Given the description of an element on the screen output the (x, y) to click on. 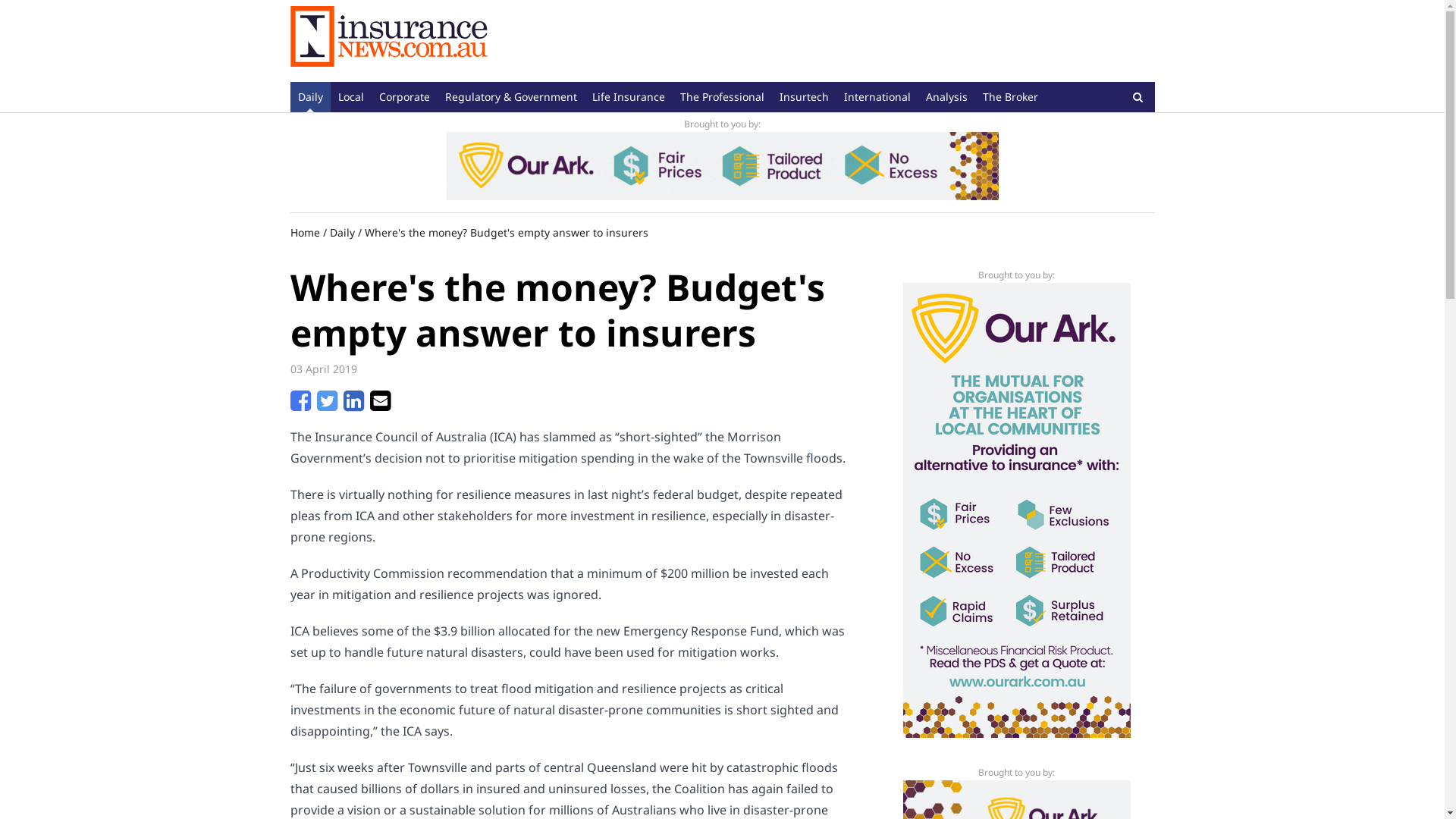
The Professional Element type: text (721, 96)
Go to InsuranceNEWS home page Element type: hover (387, 40)
Local Element type: text (350, 96)
Search Element type: hover (1137, 96)
Analysis Element type: text (945, 96)
Insurtech Element type: text (803, 96)
Share via Twitter Element type: hover (326, 404)
Daily Element type: text (341, 232)
Our Ark Element type: hover (1015, 509)
International Element type: text (876, 96)
Where's the money? Budget's empty answer to insurers Element type: text (505, 232)
Share via Email Element type: hover (380, 404)
Share via Facebook Element type: hover (299, 404)
Life Insurance Element type: text (627, 96)
Daily Element type: text (309, 96)
Home Element type: text (304, 232)
The Broker Element type: text (1010, 96)
Our Ark Element type: hover (721, 165)
Regulatory & Government Element type: text (509, 96)
Share via LinkedIn Element type: hover (352, 404)
Corporate Element type: text (404, 96)
